Given the description of an element on the screen output the (x, y) to click on. 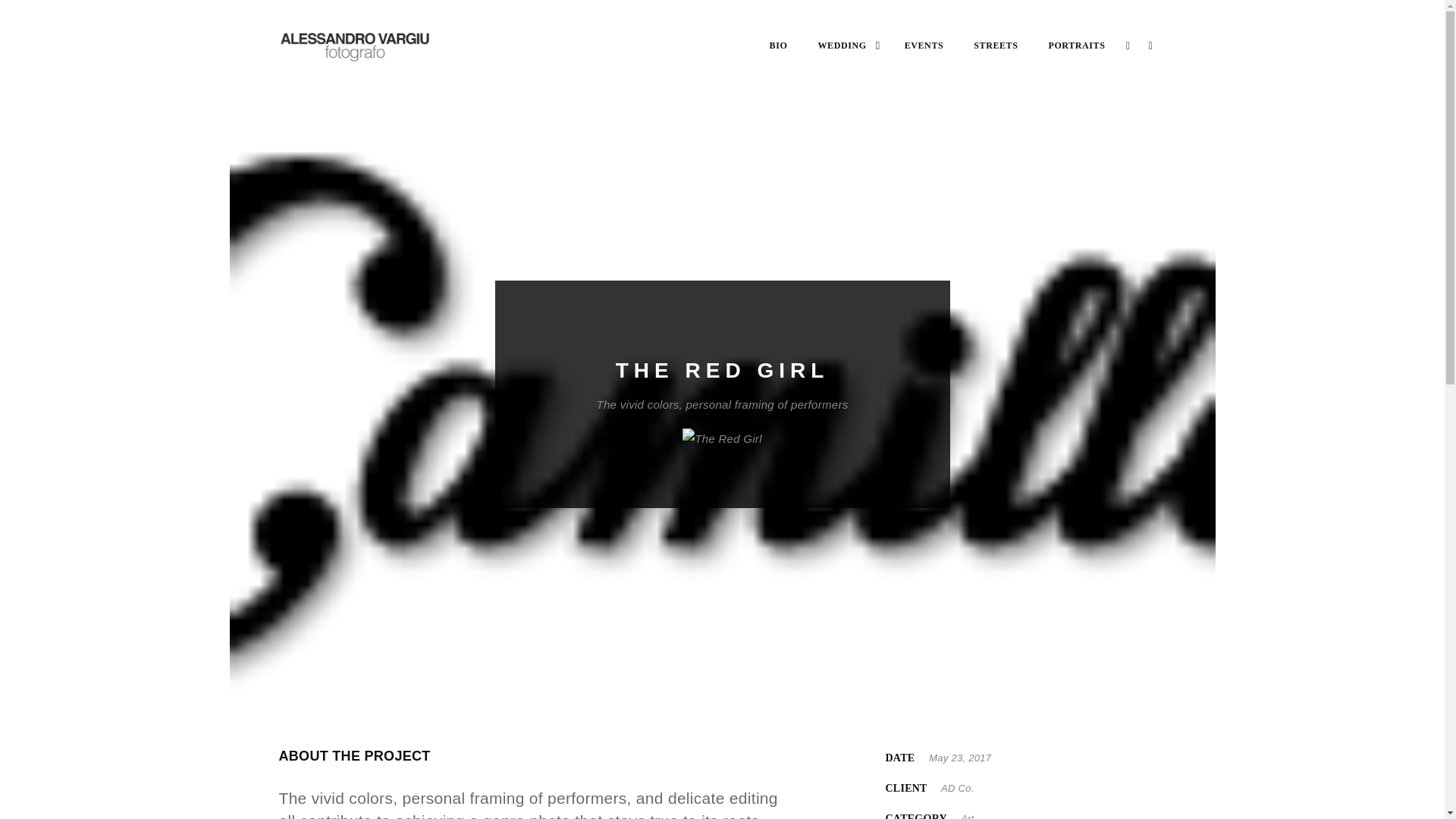
STREETS (995, 45)
Art (967, 816)
EVENTS (923, 45)
Alessandro Vargiu -  (354, 45)
BIO (778, 45)
WEDDING (844, 45)
PORTRAITS (1076, 45)
